Given the description of an element on the screen output the (x, y) to click on. 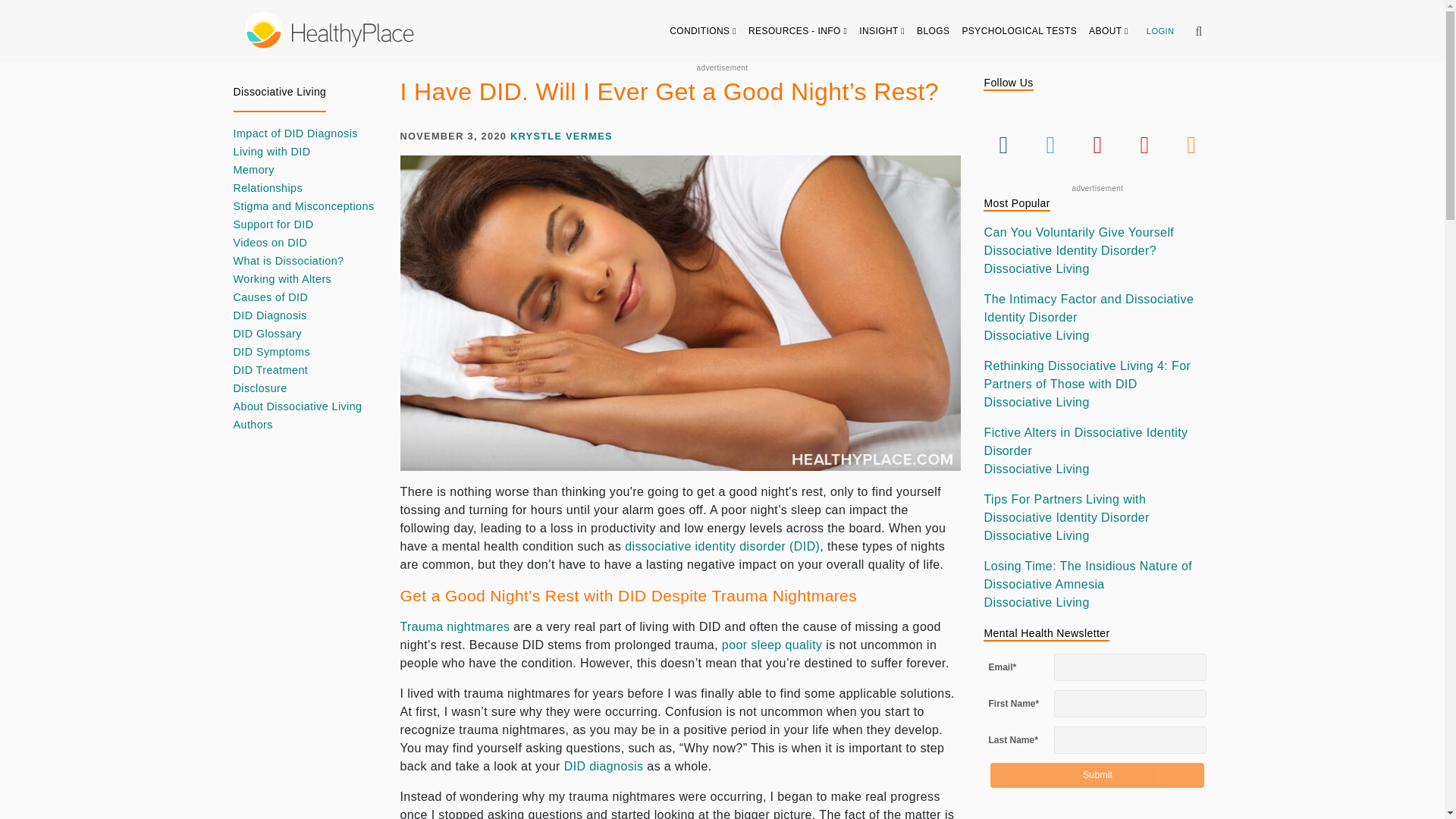
How to Treat PTSD Nightmares (455, 626)
What Is Dissociative Identity Disorder? (721, 545)
INSIGHT (882, 31)
How to Develop Good Sleep Habits (772, 644)
RESOURCES - INFO (797, 31)
Submit (1097, 774)
CONDITIONS (702, 31)
